Given the description of an element on the screen output the (x, y) to click on. 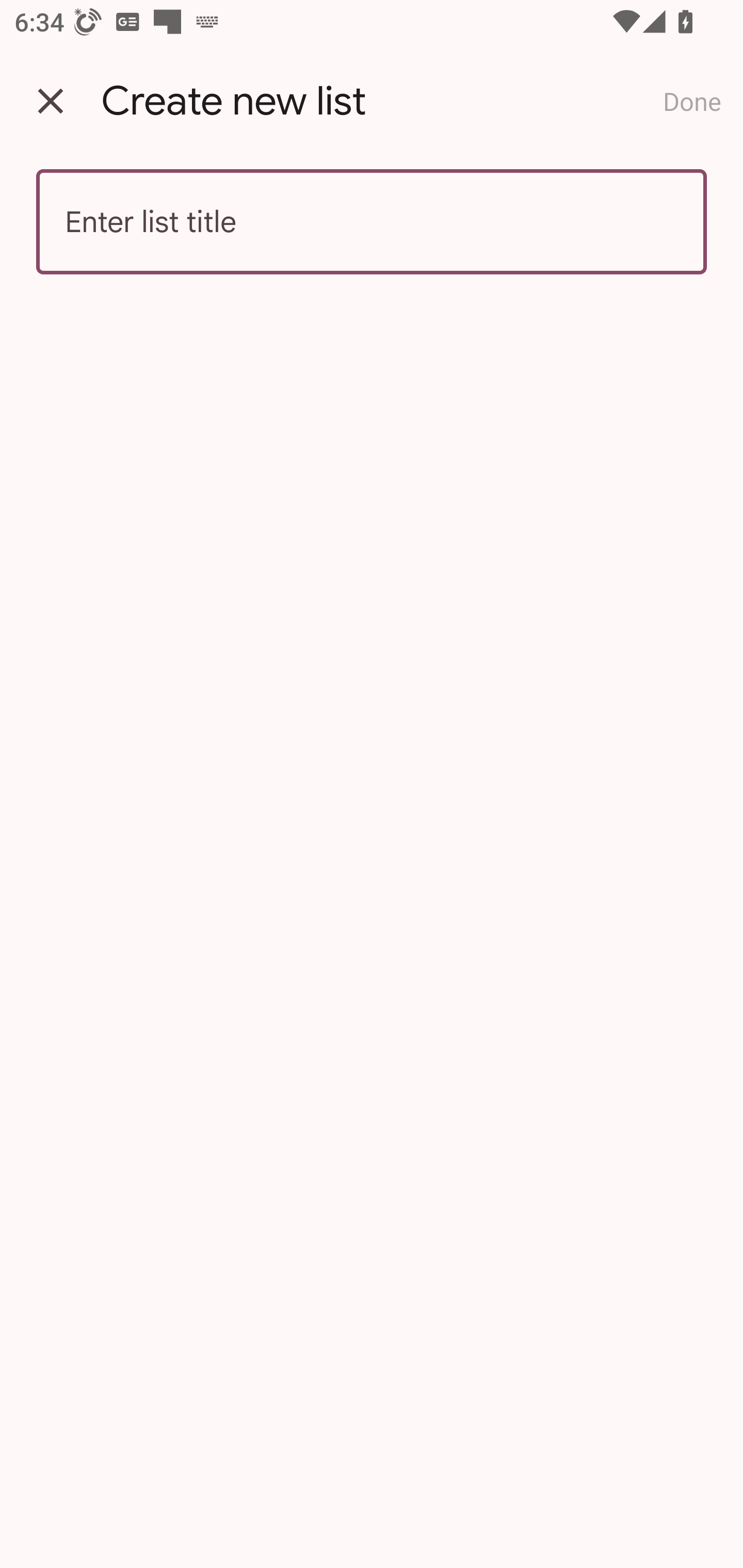
Back (50, 101)
Done (692, 101)
Enter list title (371, 221)
